Given the description of an element on the screen output the (x, y) to click on. 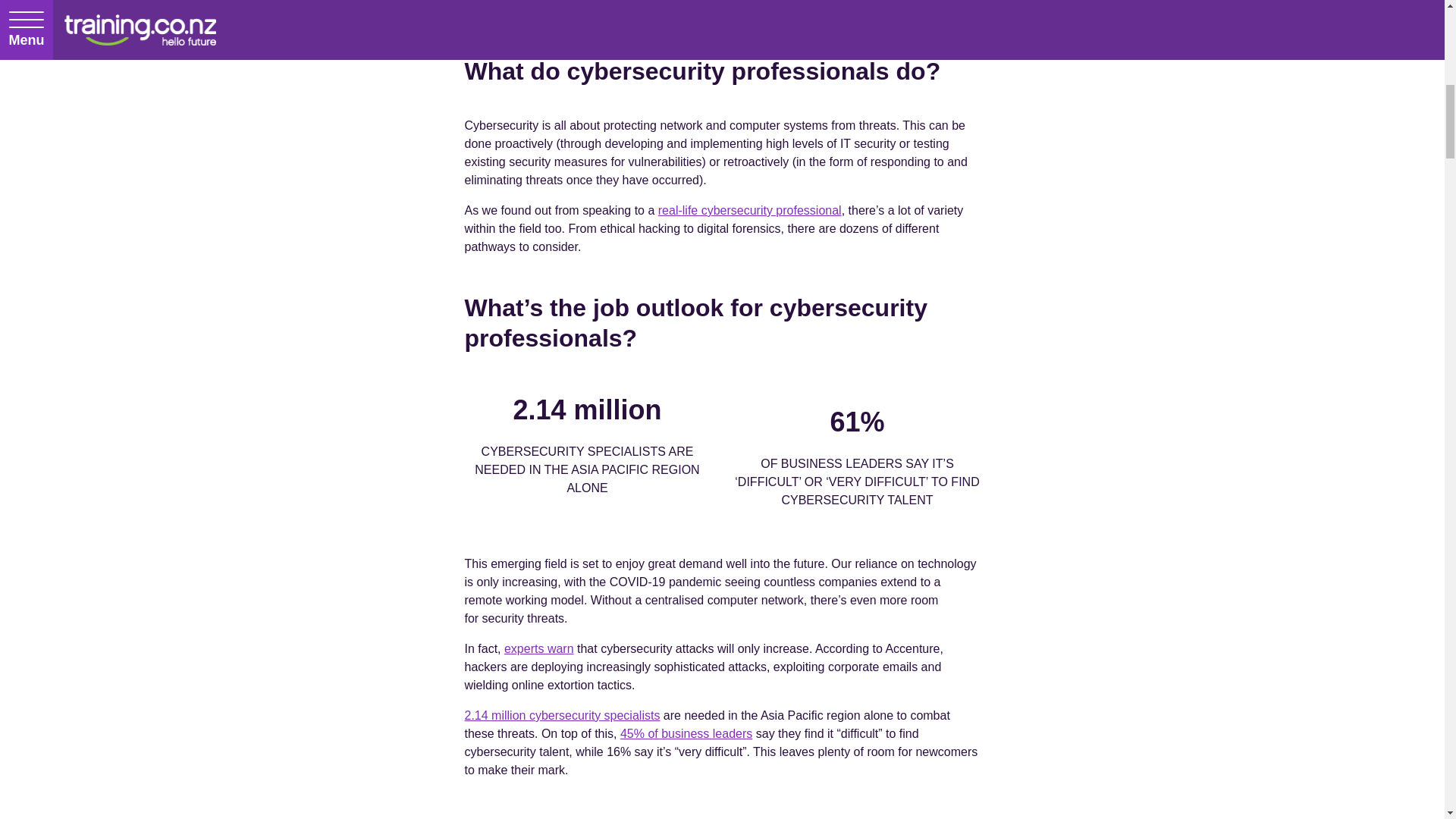
2.14 million cybersecurity specialists (561, 715)
real-life cybersecurity professional (749, 210)
experts warn (538, 648)
